Given the description of an element on the screen output the (x, y) to click on. 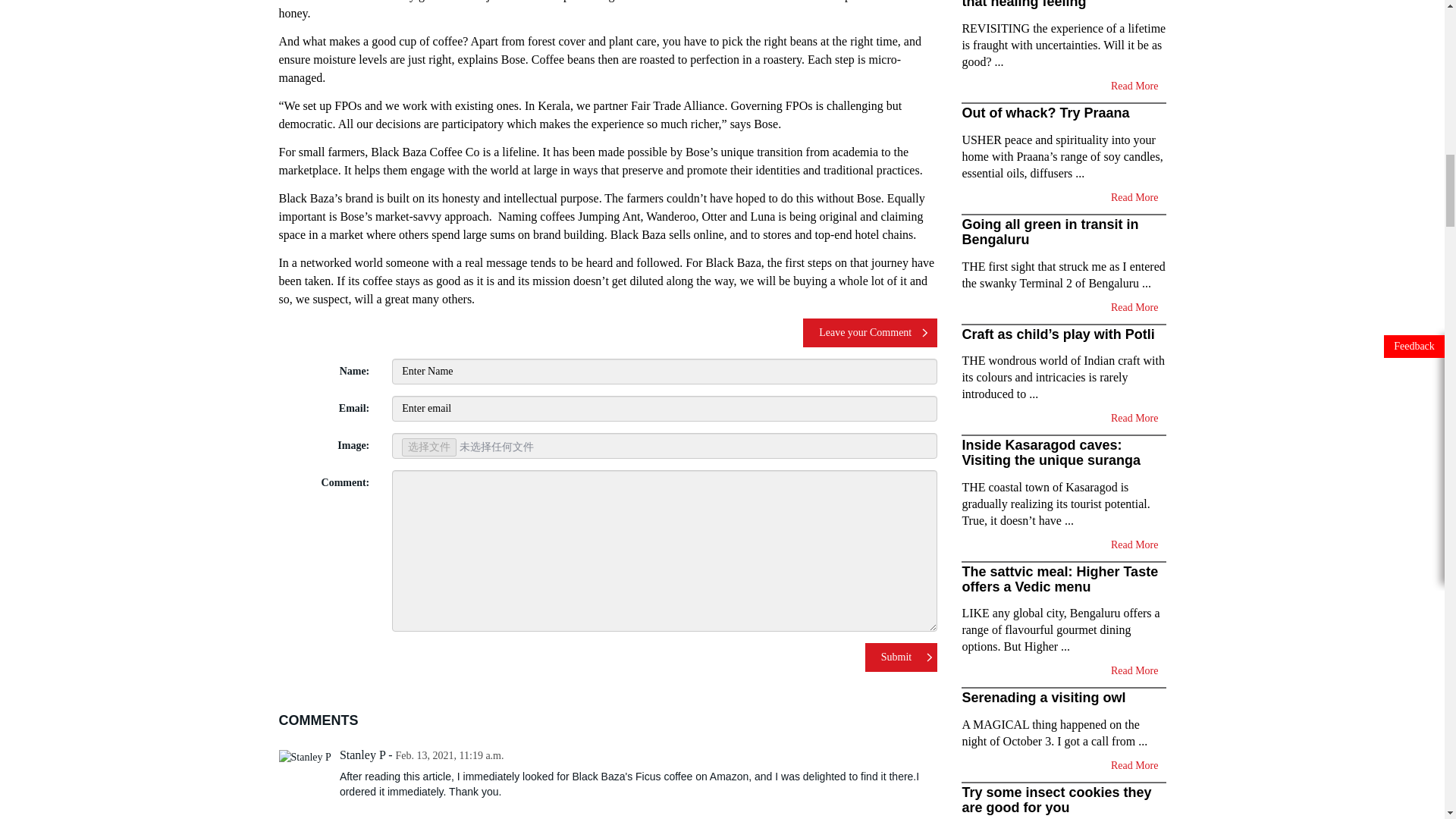
Leave your Comment (870, 332)
